Given the description of an element on the screen output the (x, y) to click on. 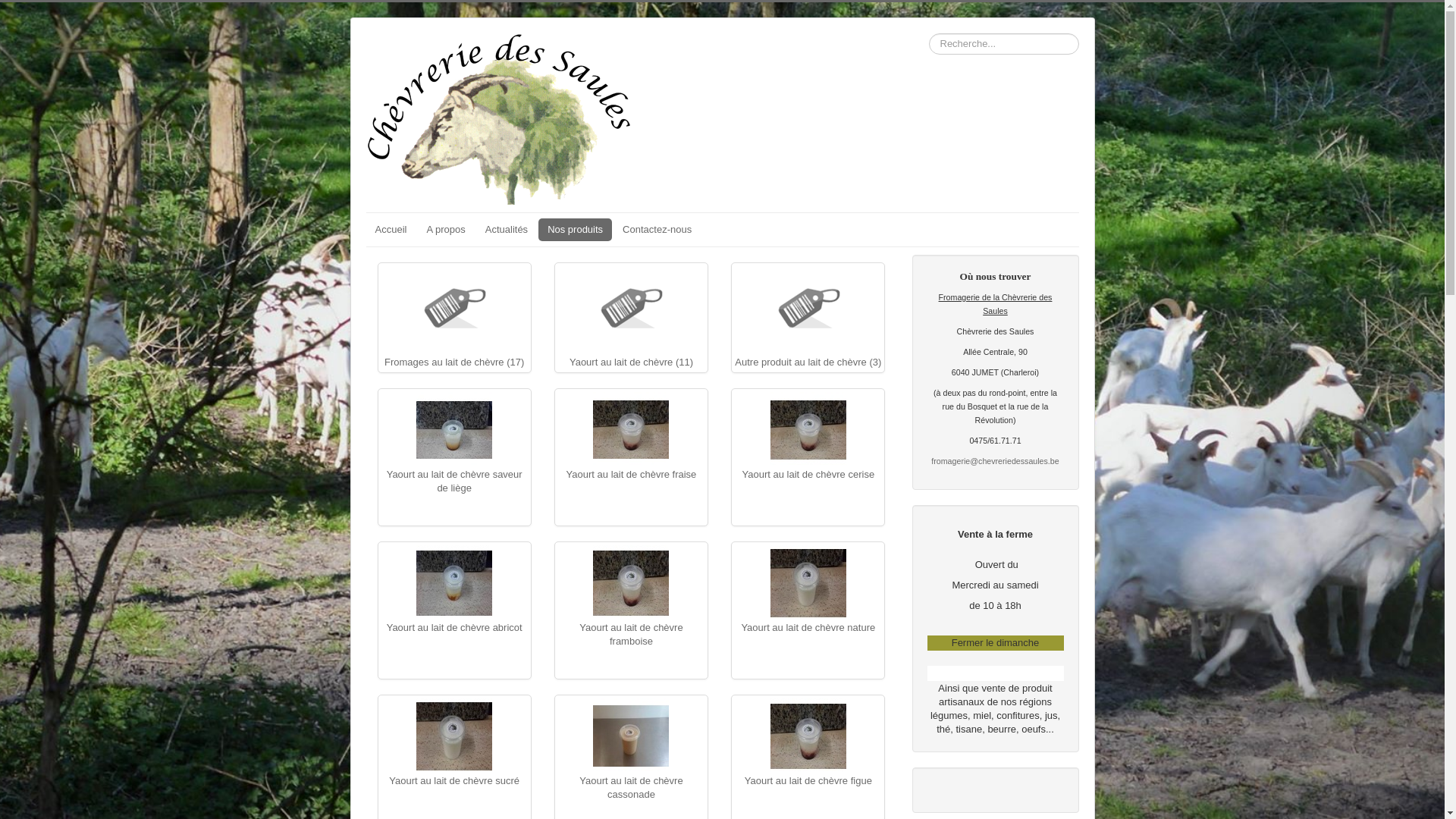
A propos Element type: text (445, 229)
Nos produits Element type: text (574, 229)
Accueil Element type: text (390, 229)
fromagerie@chevreriedessaules.be Element type: text (994, 460)
Contactez-nous Element type: text (656, 229)
